Given the description of an element on the screen output the (x, y) to click on. 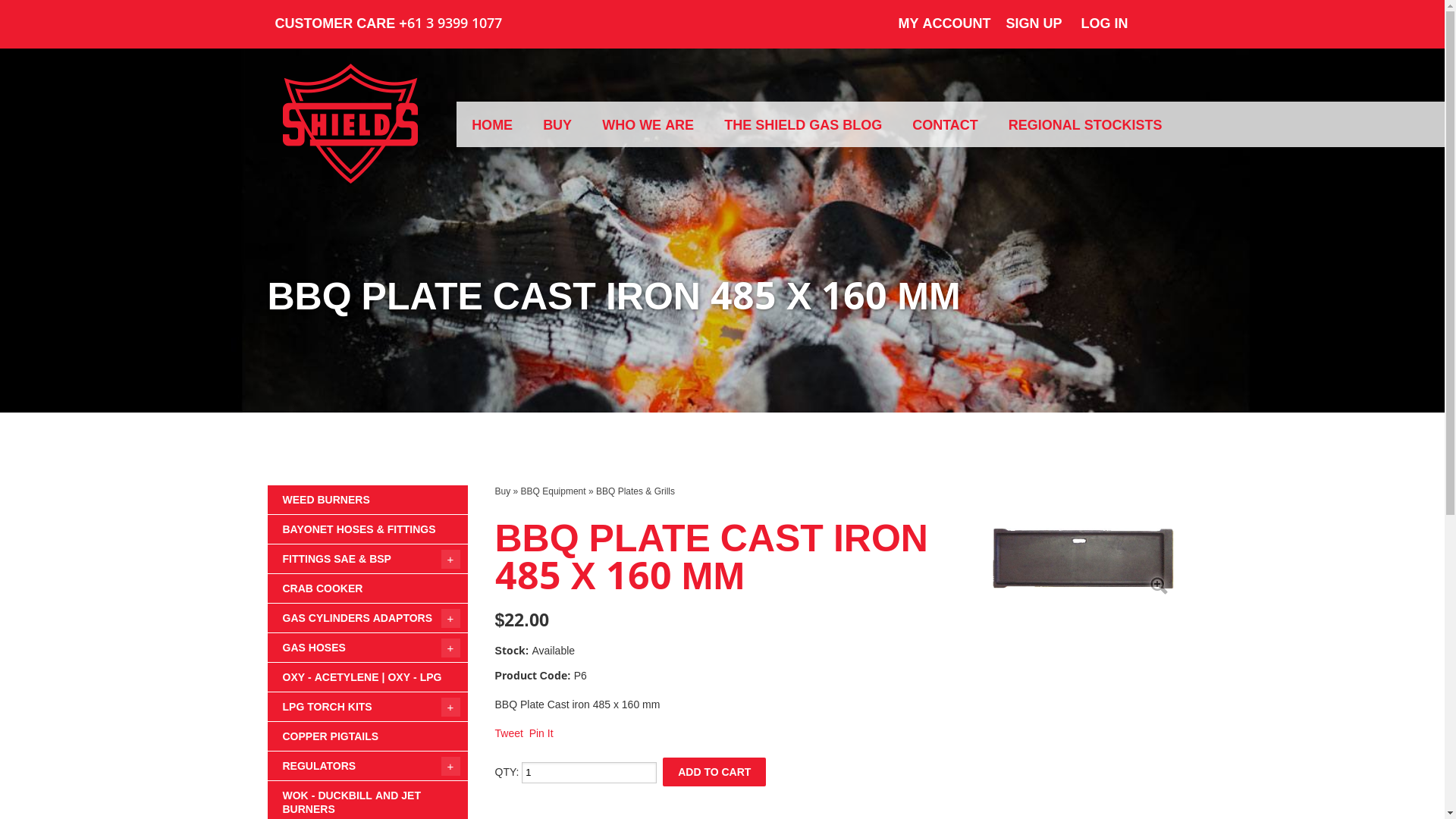
ADD TO CART Element type: text (713, 771)
Tweet Element type: text (508, 732)
COPPER PIGTAILS Element type: text (366, 735)
Pin It Element type: text (541, 732)
HOME Element type: text (491, 124)
SIGN UP Element type: text (1042, 22)
CRAB COOKER Element type: text (366, 588)
BAYONET HOSES & FITTINGS Element type: text (366, 528)
James Shields & Co Element type: hover (349, 129)
WEED BURNERS Element type: text (366, 499)
LOG IN Element type: text (1114, 22)
OXY - ACETYLENE | OXY - LPG Element type: text (366, 676)
GAS CYLINDERS ADAPTORS Element type: text (366, 617)
FITTINGS SAE & BSP Element type: text (366, 558)
BBQ Equipment Element type: text (553, 491)
CONTACT Element type: text (945, 124)
BUY Element type: text (556, 124)
GAS HOSES Element type: text (366, 647)
REGIONAL STOCKISTS Element type: text (1085, 124)
REGULATORS Element type: text (366, 765)
MY ACCOUNT Element type: text (951, 22)
CUSTOMER CARE +61 3 9399 1077 Element type: text (391, 23)
WHO WE ARE Element type: text (647, 124)
Buy Element type: text (502, 491)
THE SHIELD GAS BLOG Element type: text (803, 124)
BBQ Plates & Grills Element type: text (635, 491)
LPG TORCH KITS Element type: text (366, 706)
